Given the description of an element on the screen output the (x, y) to click on. 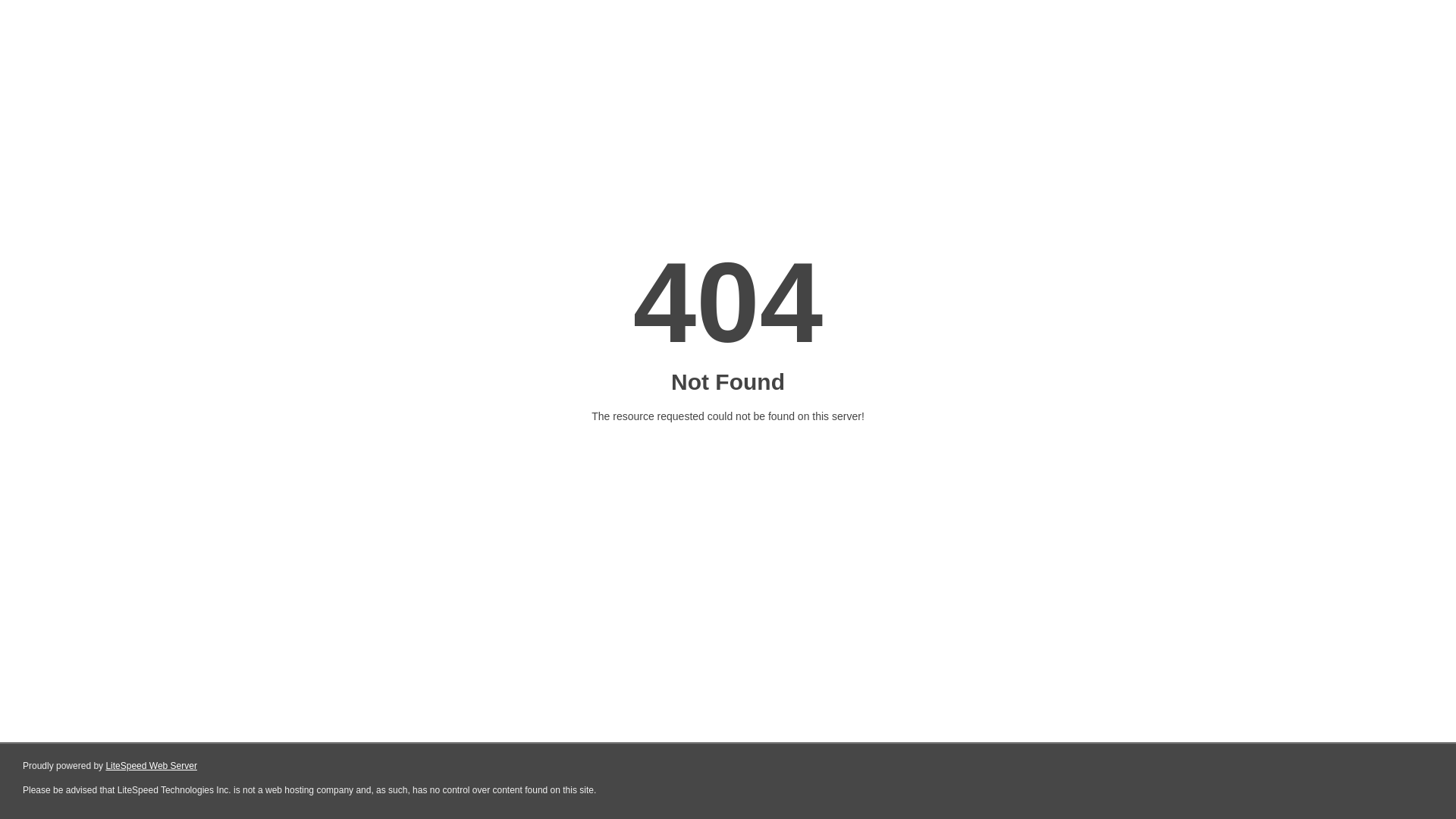
LiteSpeed Web Server Element type: text (151, 765)
